Given the description of an element on the screen output the (x, y) to click on. 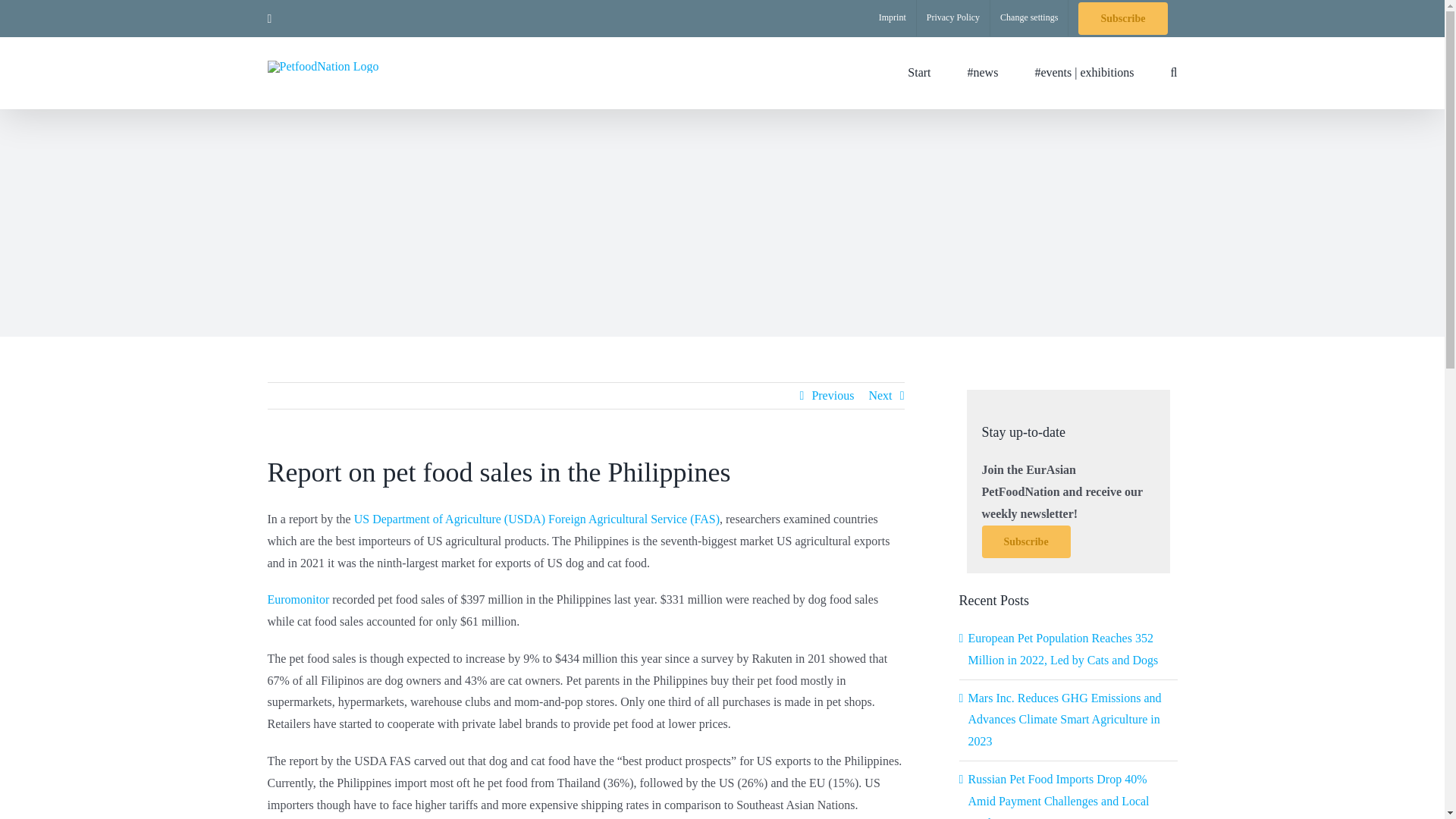
Subscribe (1025, 541)
Euromonitor (297, 599)
Next (879, 395)
Privacy Policy (953, 18)
Subscribe (1122, 18)
Imprint (892, 18)
Previous (831, 395)
Change settings (1028, 18)
